Given the description of an element on the screen output the (x, y) to click on. 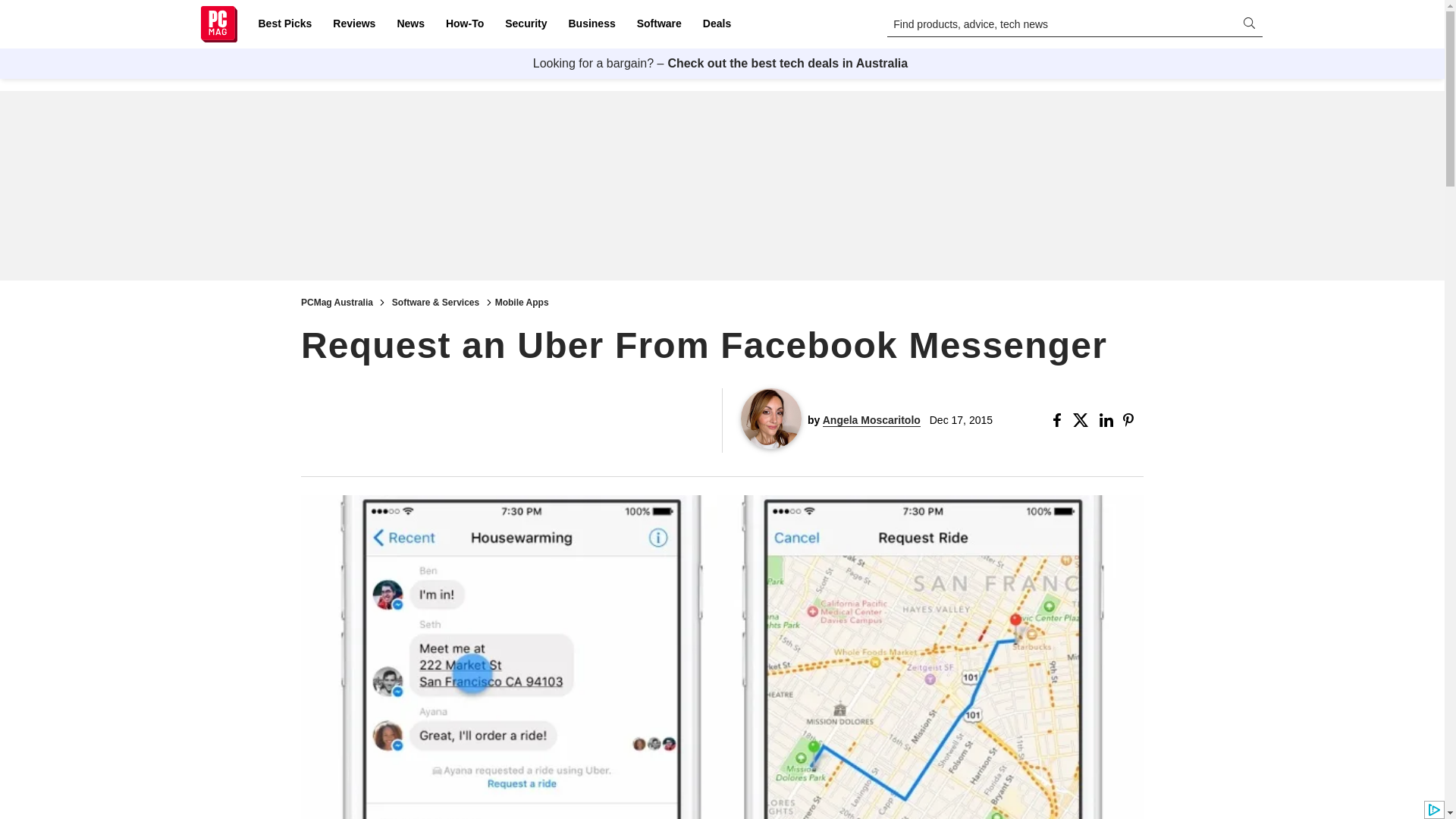
Best Picks (284, 24)
How-To (464, 24)
Share this Story on X (1083, 419)
Share this Story on Pinterest (1132, 419)
Share this Story on Facebook (1059, 419)
Business (591, 24)
Share this Story on Linkedin (1107, 419)
Reviews (353, 24)
Security (526, 24)
